Given the description of an element on the screen output the (x, y) to click on. 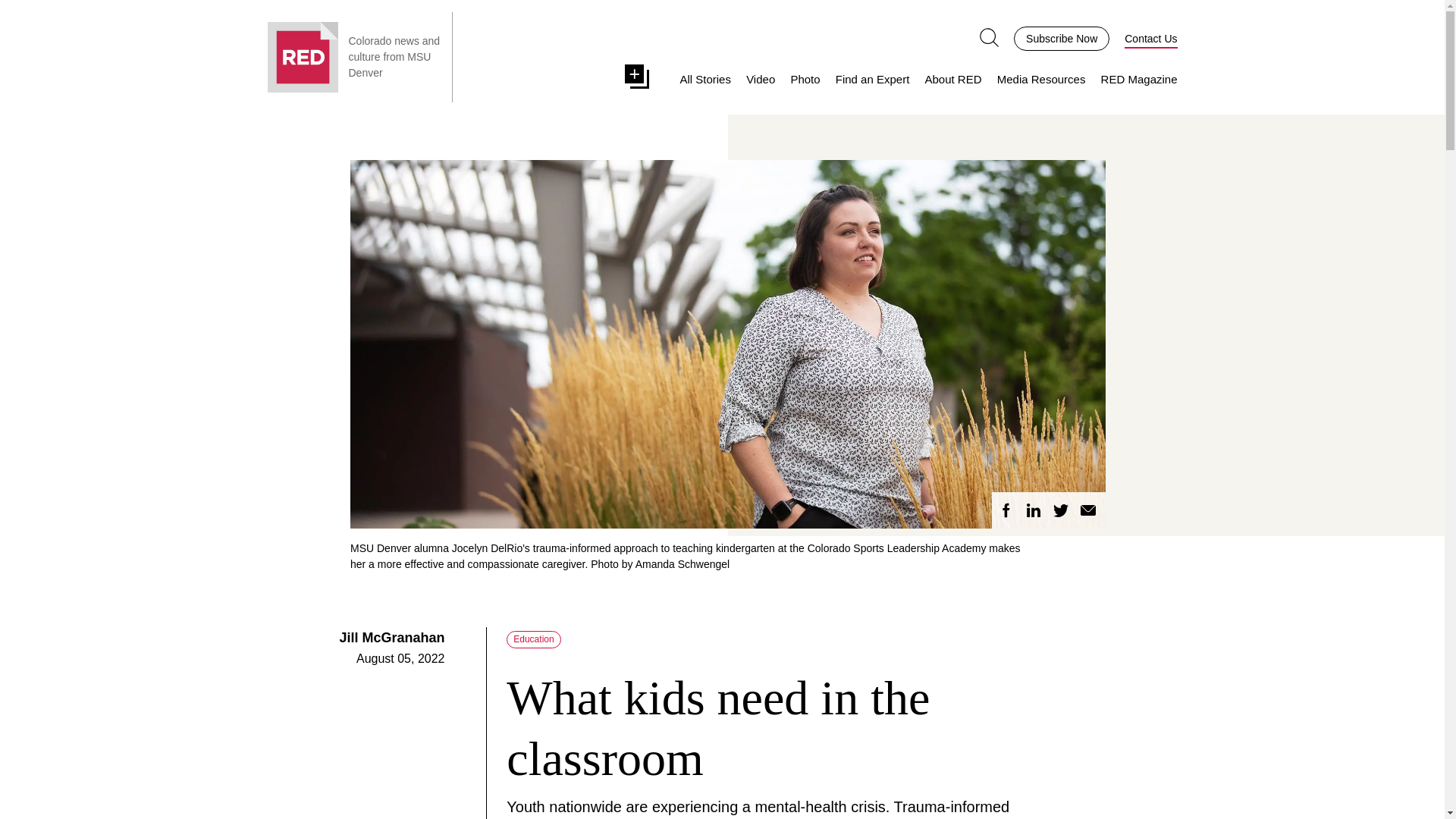
Find an Expert (872, 79)
Expand Menu (639, 78)
Open Search (988, 37)
Photo (804, 79)
All Stories (704, 79)
Contact Us (1150, 38)
Subscribe Now (1061, 37)
Media Resources (1041, 79)
Colorado news and culture from MSU Denver (396, 57)
RED Magazine (1138, 79)
Video (759, 79)
About RED (952, 79)
